Given the description of an element on the screen output the (x, y) to click on. 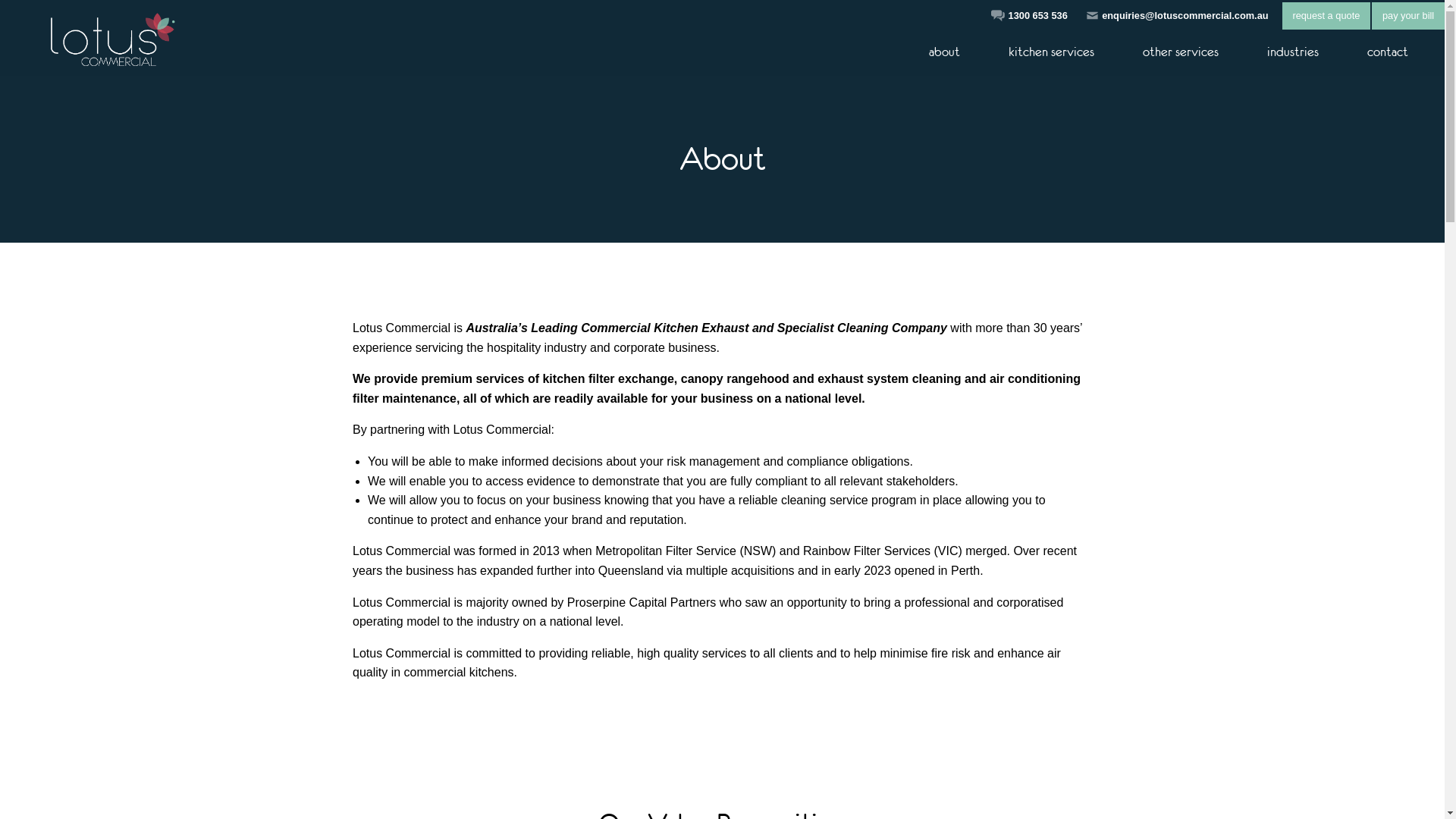
other services Element type: text (1180, 51)
contact Element type: text (1387, 51)
enquiries@lotuscommercial.com.au Element type: text (1184, 15)
request a quote Element type: text (1326, 16)
kitchen services Element type: text (1051, 51)
1300 653 536 Element type: text (1037, 15)
about Element type: text (944, 51)
pay your bill Element type: text (1407, 16)
industries Element type: text (1292, 51)
